Given the description of an element on the screen output the (x, y) to click on. 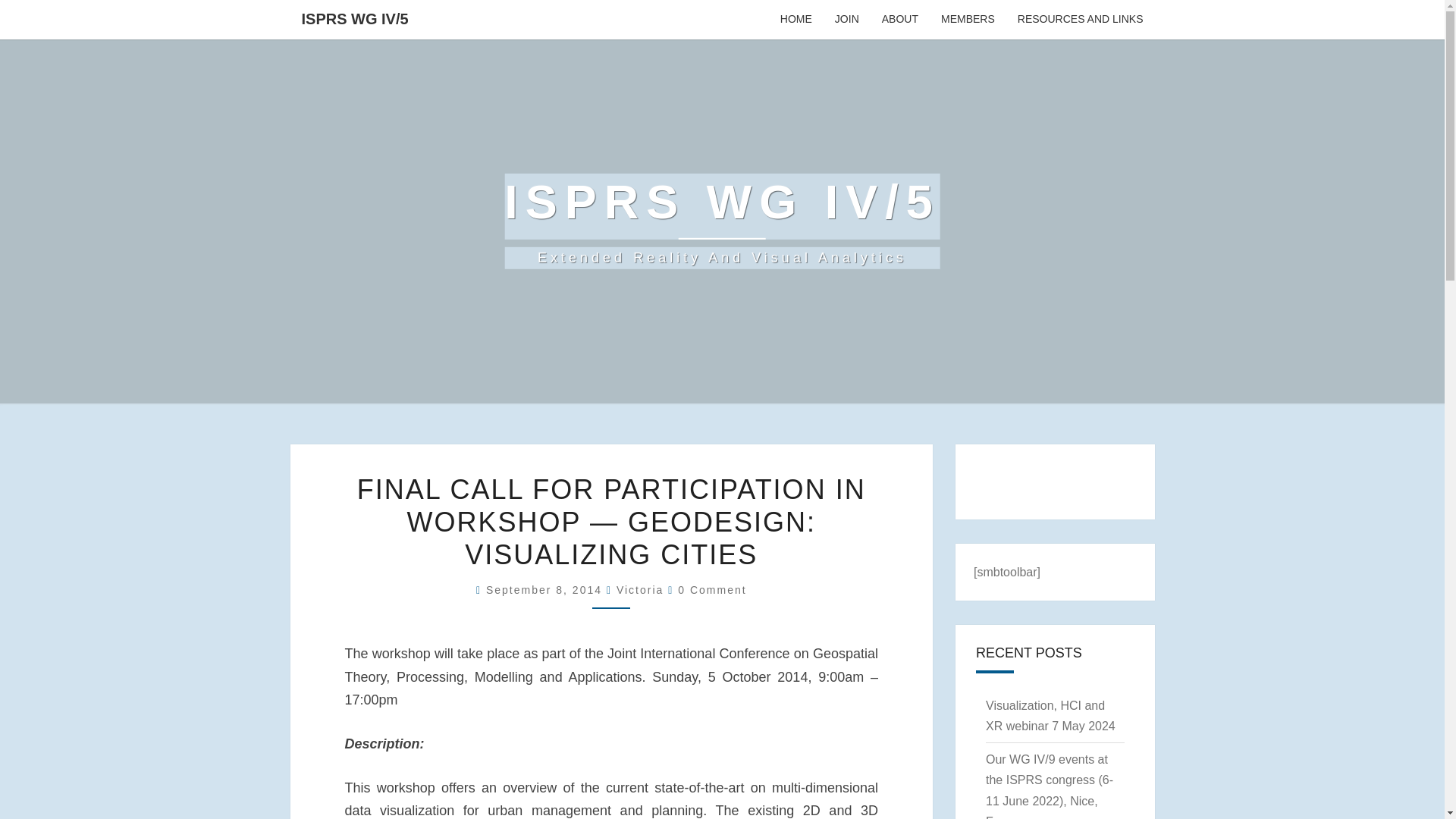
Victoria (639, 589)
Visualization, HCI and XR webinar 7 May 2024 (1050, 715)
MEMBERS (968, 19)
RESOURCES AND LINKS (1080, 19)
0 Comment (711, 589)
September 8, 2014 (546, 589)
JOIN (847, 19)
HOME (796, 19)
ABOUT (900, 19)
4:52 pm (546, 589)
